Given the description of an element on the screen output the (x, y) to click on. 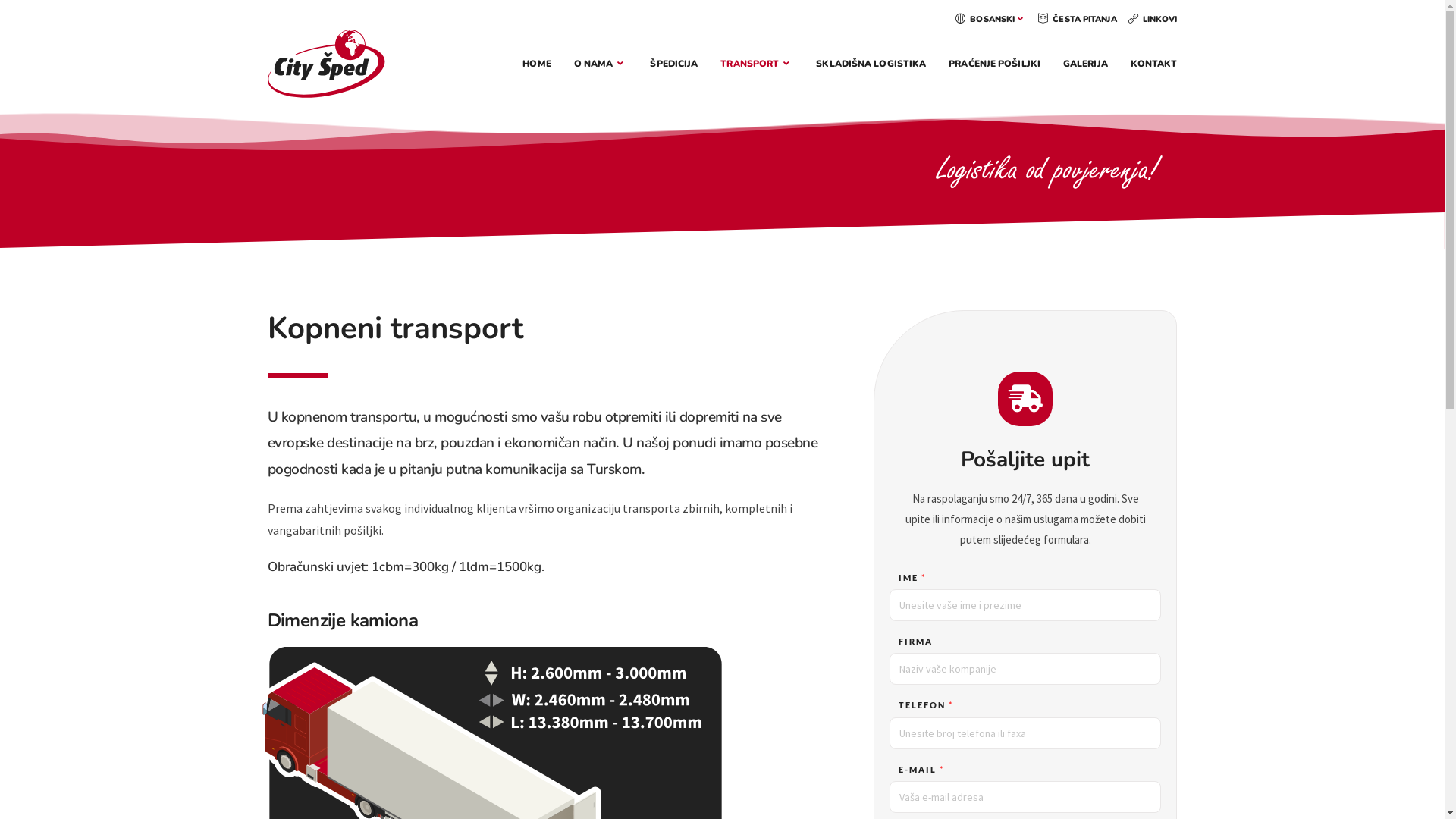
TRANSPORT Element type: text (756, 63)
GALERIJA Element type: text (1085, 63)
KONTAKT Element type: text (1154, 63)
LINKOVI Element type: text (1152, 19)
BOSANSKI Element type: text (990, 19)
O NAMA Element type: text (600, 63)
HOME Element type: text (536, 63)
